Given the description of an element on the screen output the (x, y) to click on. 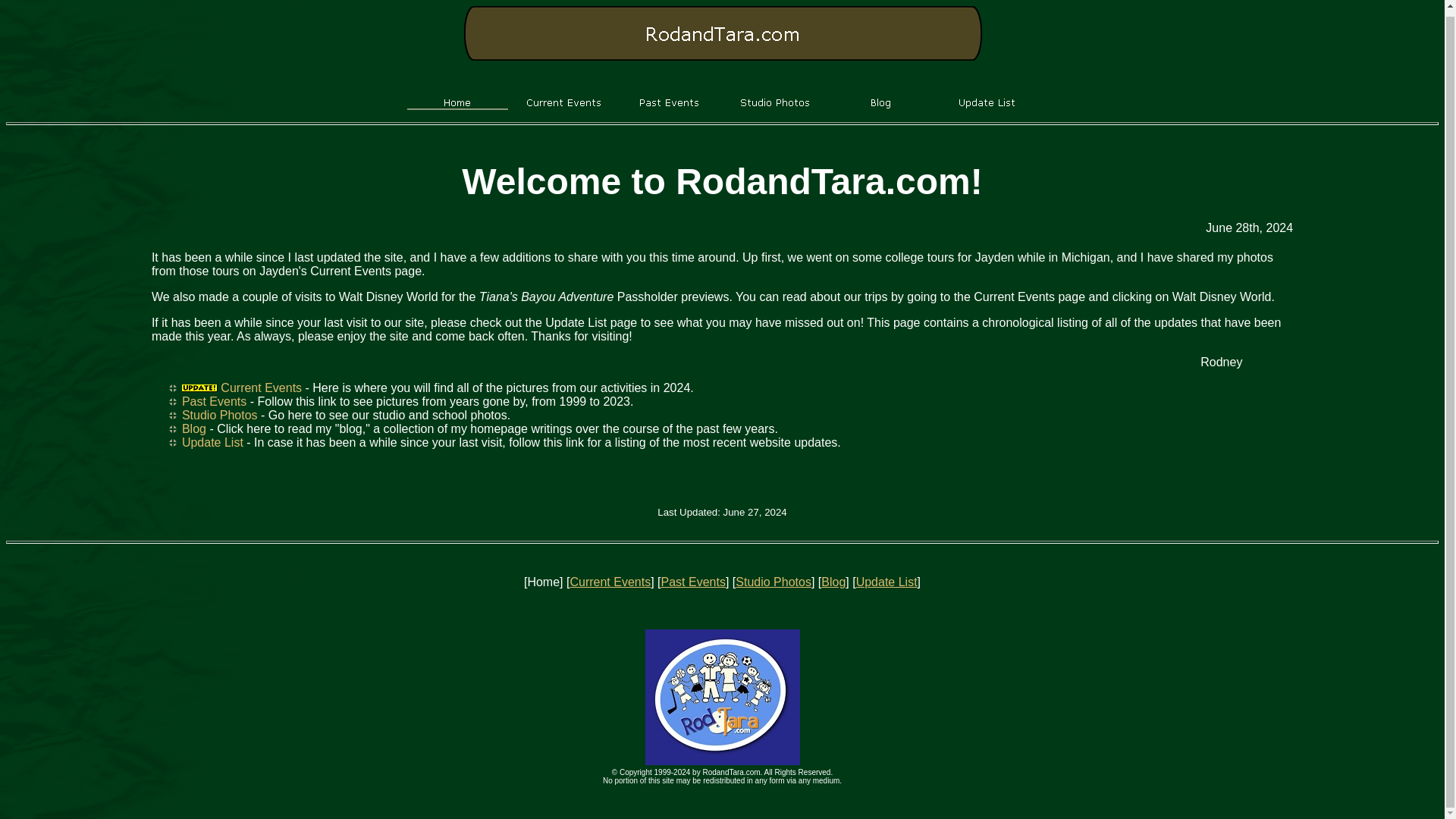
Update List (212, 441)
Past Events (214, 400)
Current Events (261, 387)
Past Events (693, 581)
Blog (194, 428)
Studio Photos (219, 414)
Current Events (609, 581)
Blog (833, 581)
Studio Photos (772, 581)
Update List (886, 581)
